Given the description of an element on the screen output the (x, y) to click on. 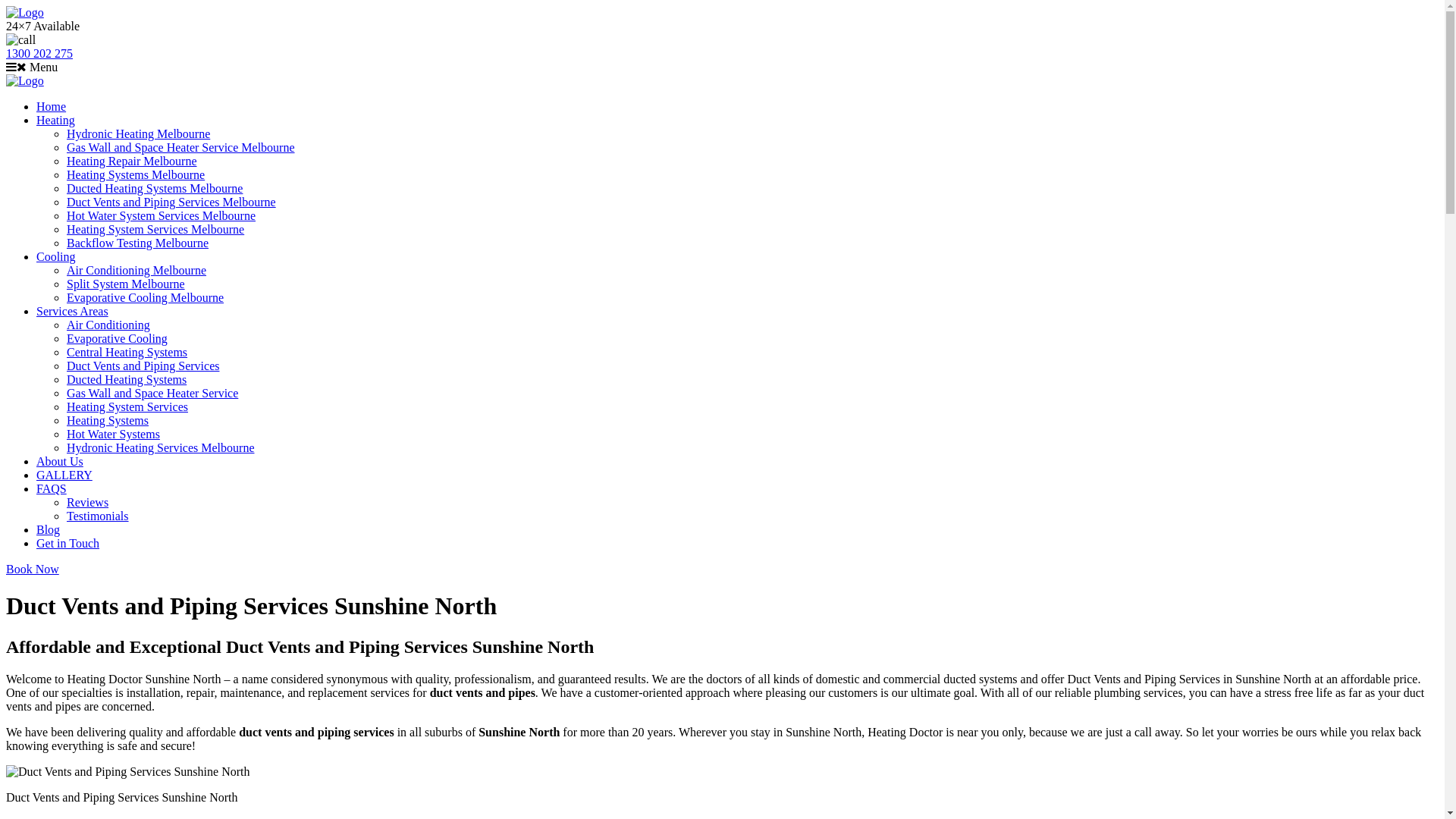
Duct Vents and Piping Services Sunshine North 1 Element type: hover (127, 771)
Heating Systems Melbourne Element type: text (135, 174)
Heating Element type: text (55, 119)
1300 202 275 Element type: text (39, 53)
Air Conditioning Melbourne Element type: text (136, 269)
Backflow Testing Melbourne Element type: text (137, 242)
Get in Touch Element type: text (67, 542)
Blog Element type: text (47, 529)
About Us Element type: text (59, 461)
Evaporative Cooling Melbourne Element type: text (144, 297)
Heating System Services Element type: text (127, 406)
Split System Melbourne Element type: text (125, 283)
Heating Systems Element type: text (107, 420)
Reviews Element type: text (87, 501)
Heating Repair Melbourne Element type: text (131, 160)
Hydronic Heating Services Melbourne Element type: text (160, 447)
Hydronic Heating Melbourne Element type: text (138, 133)
Ducted Heating Systems Melbourne Element type: text (154, 188)
Gas Wall and Space Heater Service Melbourne Element type: text (180, 147)
Heating System Services Melbourne Element type: text (155, 228)
Menu Element type: text (31, 66)
Evaporative Cooling Element type: text (116, 338)
Air Conditioning Element type: text (108, 324)
Home Element type: text (50, 106)
Hot Water System Services Melbourne Element type: text (160, 215)
Hot Water Systems Element type: text (113, 433)
Services Areas Element type: text (72, 310)
Testimonials Element type: text (97, 515)
Book Now Element type: text (32, 568)
Duct Vents and Piping Services Melbourne Element type: text (171, 201)
Ducted Heating Systems Element type: text (126, 379)
GALLERY Element type: text (64, 474)
Central Heating Systems Element type: text (126, 351)
Cooling Element type: text (55, 256)
Duct Vents and Piping Services Element type: text (142, 365)
Gas Wall and Space Heater Service Element type: text (152, 392)
FAQS Element type: text (51, 488)
